Given the description of an element on the screen output the (x, y) to click on. 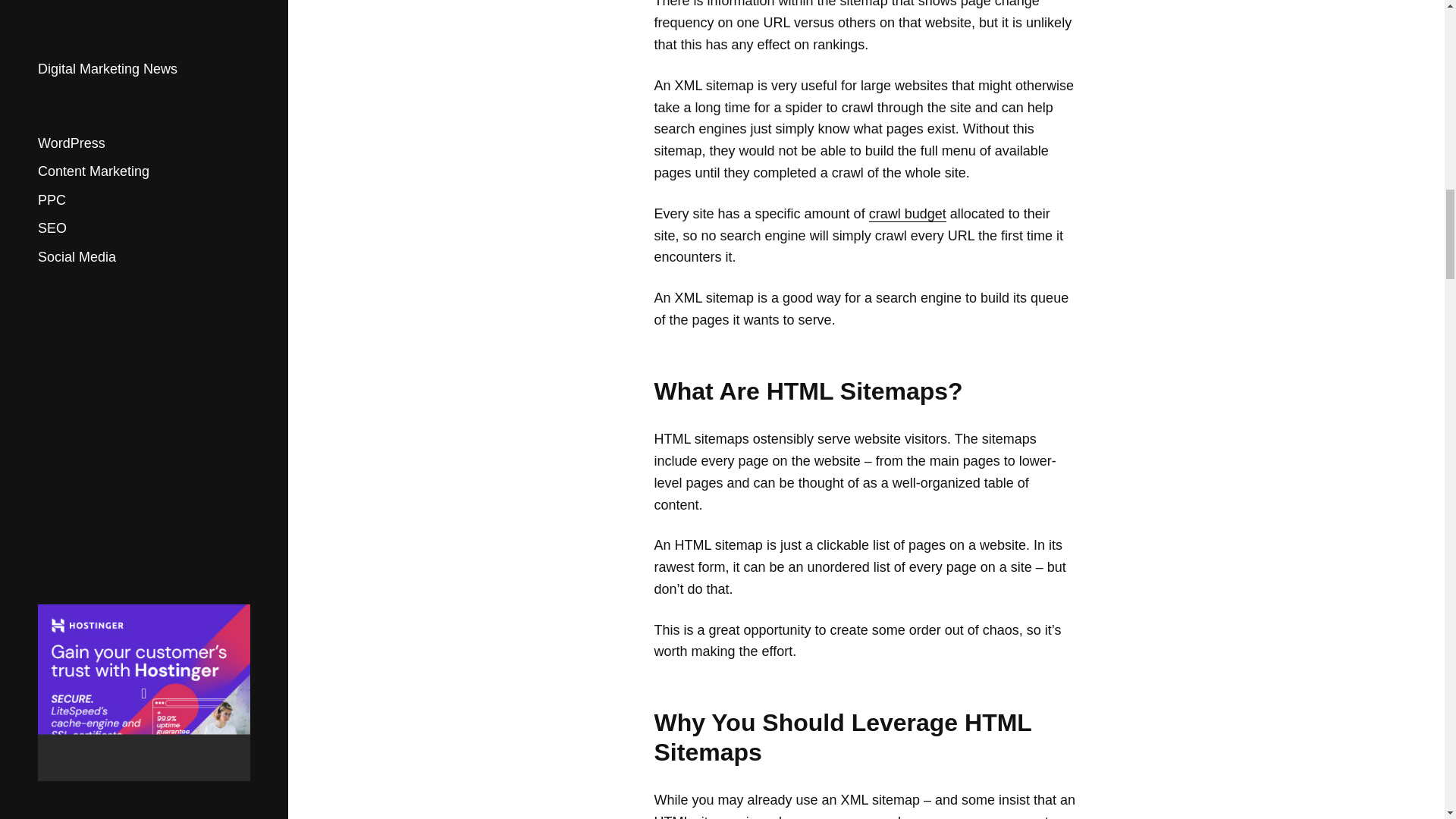
crawl budget (907, 213)
